Given the description of an element on the screen output the (x, y) to click on. 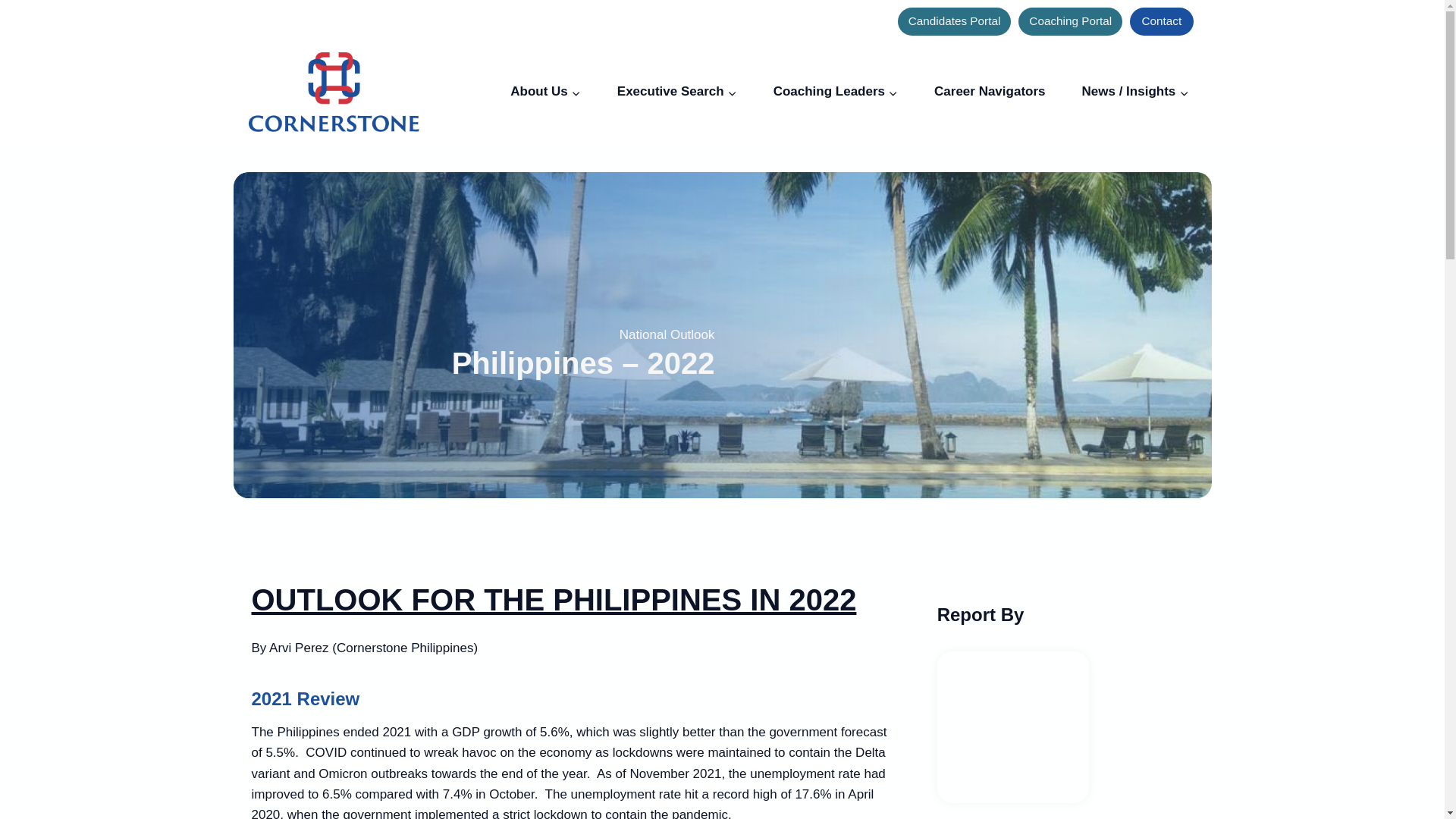
Coaching Portal (1069, 21)
Contact (1160, 21)
Coaching Leaders (835, 91)
Career Navigators (989, 91)
Candidates Portal (954, 21)
About Us (545, 91)
Executive Search (677, 91)
